Given the description of an element on the screen output the (x, y) to click on. 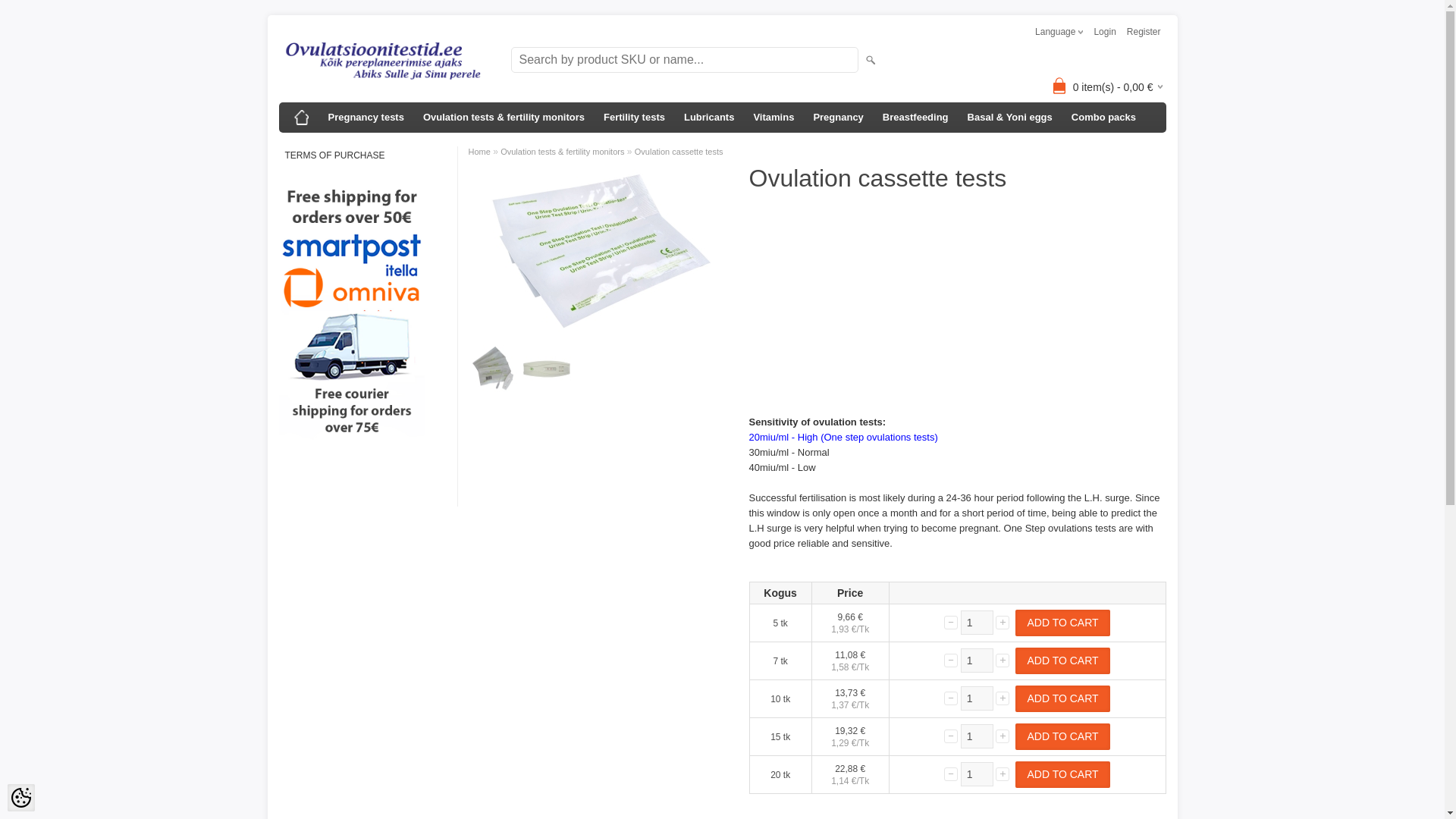
Add to cart (1061, 660)
casetteov.jpg (545, 368)
- (950, 735)
- (950, 774)
1 (976, 622)
1 (976, 698)
1 (976, 660)
Home (301, 117)
Add to cart (1061, 736)
Pregnancy (837, 117)
- (950, 660)
Add to cart (1061, 622)
Pregnancy tests (365, 117)
Fertility tests (633, 117)
- (950, 698)
